Given the description of an element on the screen output the (x, y) to click on. 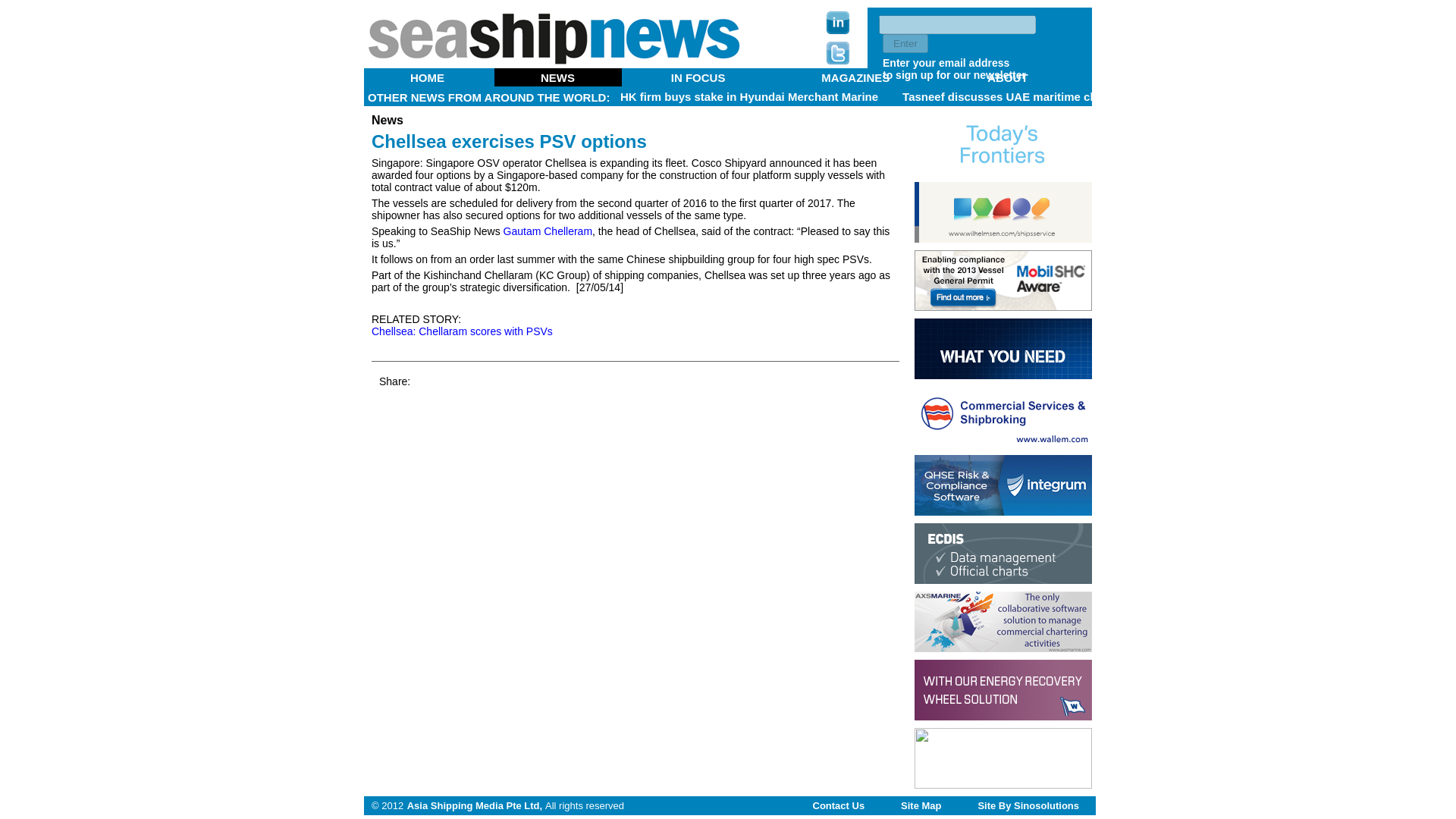
NEWS (558, 76)
Enter (905, 43)
ABOUT US (695, 83)
Chellsea: Chellaram scores with PSVs (462, 331)
HOME (428, 76)
Gautam Chelleram (547, 231)
Enter (905, 43)
Asia Shipping Media Pte Ltd, (474, 805)
IN FOCUS (698, 76)
MAGAZINES (855, 76)
